Given the description of an element on the screen output the (x, y) to click on. 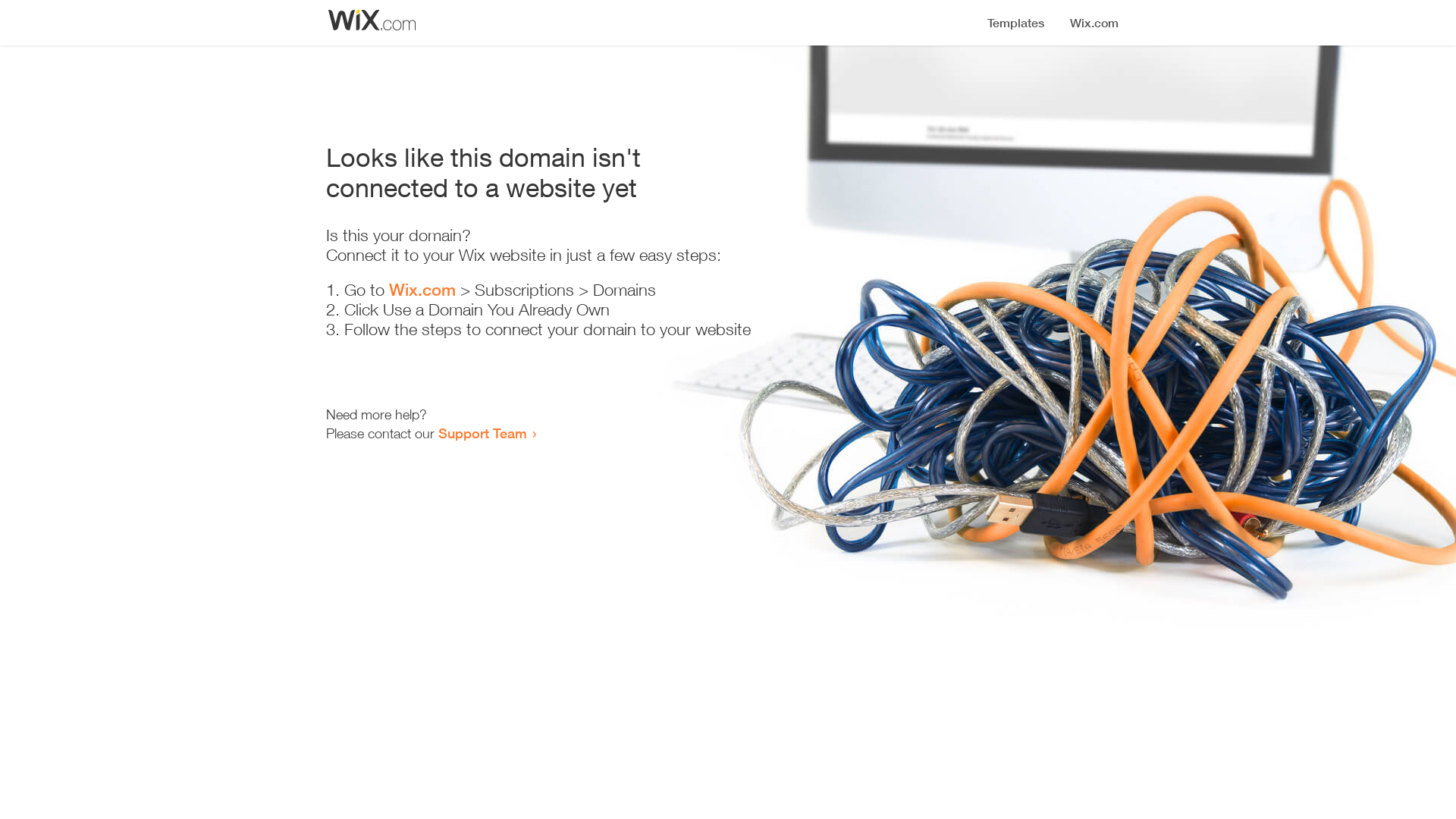
Support Team Element type: text (482, 432)
Wix.com Element type: text (422, 289)
